Given the description of an element on the screen output the (x, y) to click on. 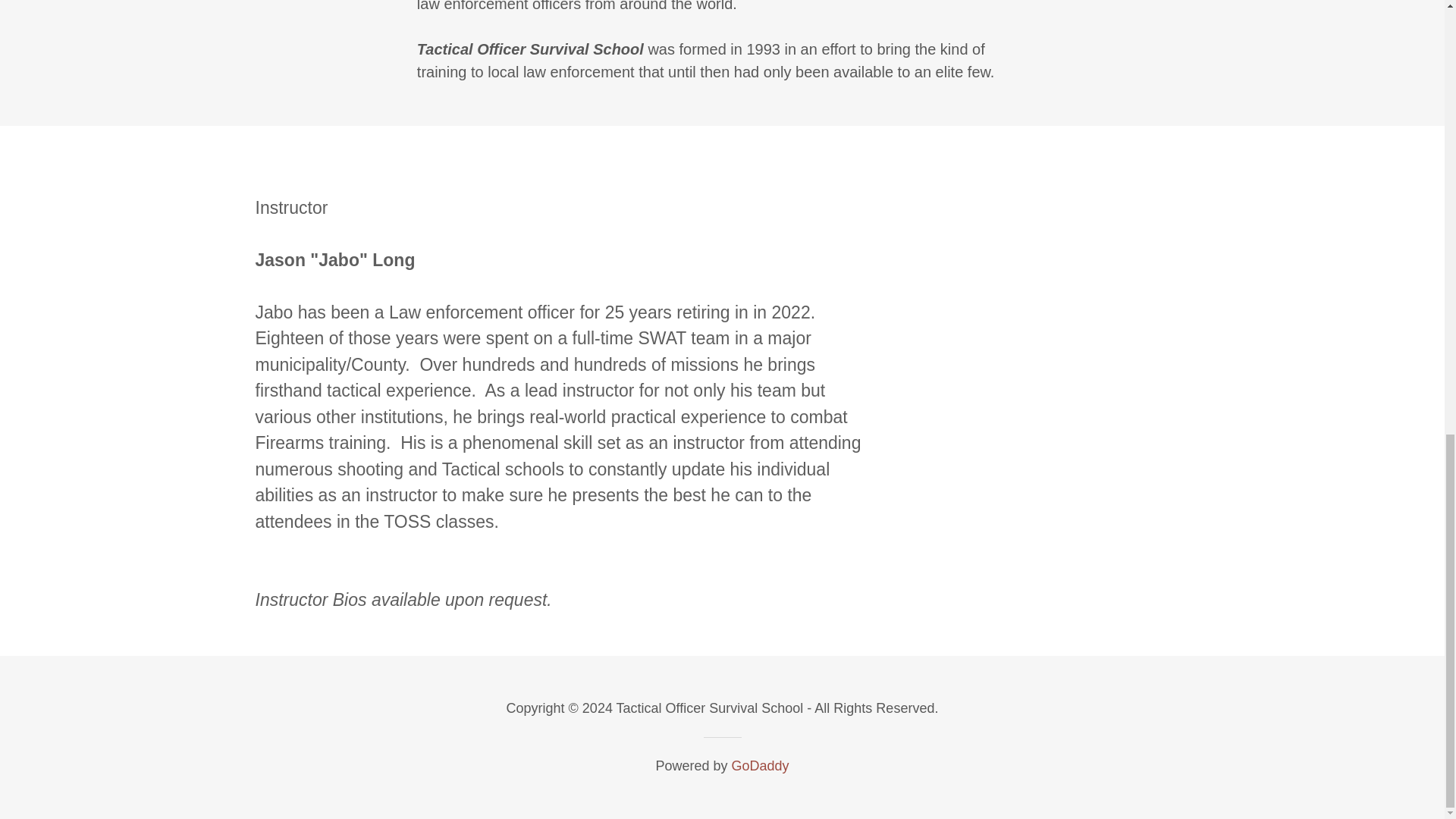
GoDaddy (759, 765)
ACCEPT (1274, 214)
